Given the description of an element on the screen output the (x, y) to click on. 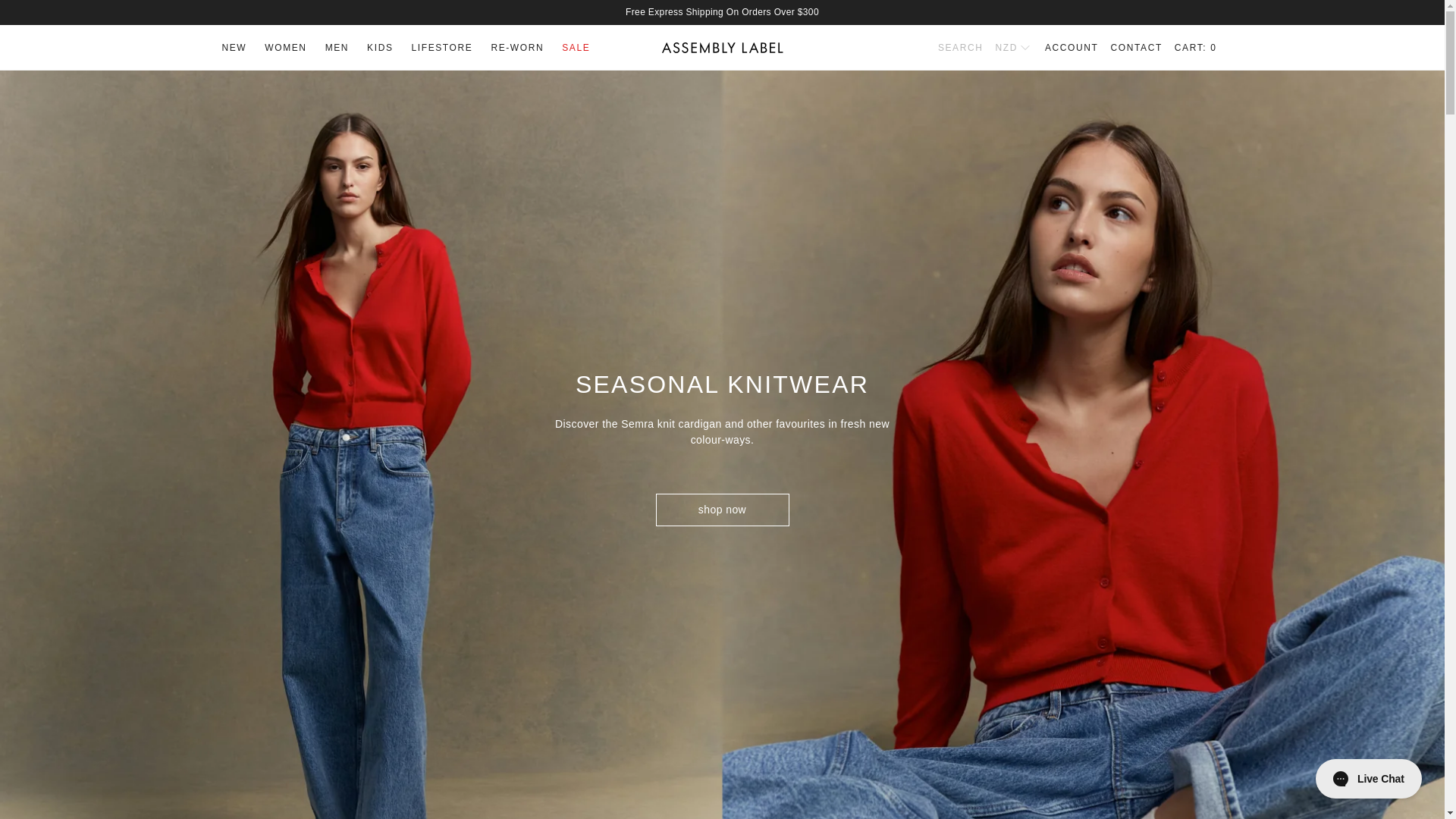
Gorgias live chat messenger (1368, 778)
NEW (233, 46)
WOMEN (284, 46)
